Given the description of an element on the screen output the (x, y) to click on. 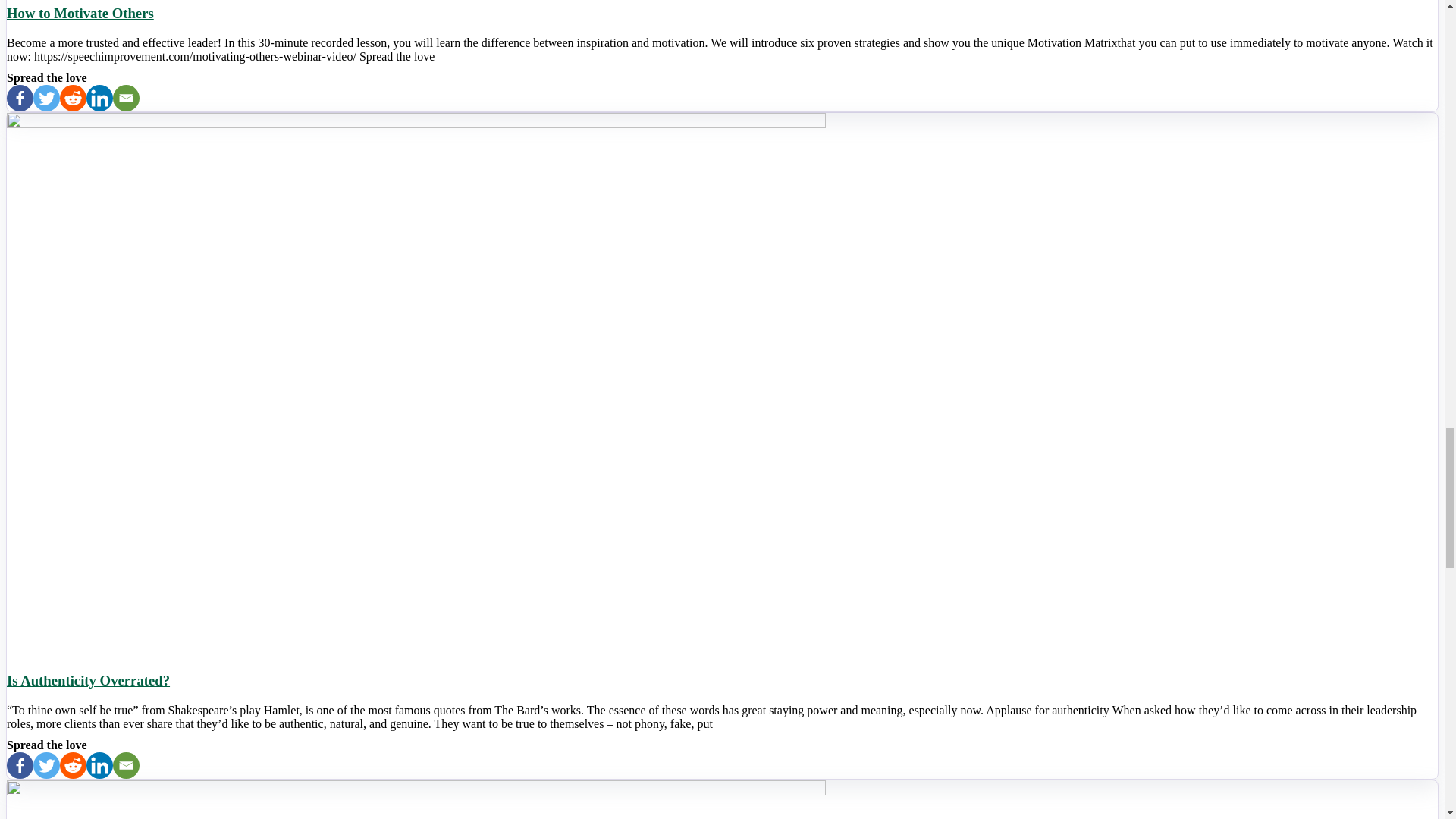
Email (126, 98)
Twitter (46, 765)
Reddit (72, 765)
Linkedin (99, 765)
Email (126, 765)
Reddit (72, 98)
Facebook (20, 98)
Twitter (46, 98)
Linkedin (99, 98)
Facebook (20, 765)
